Given the description of an element on the screen output the (x, y) to click on. 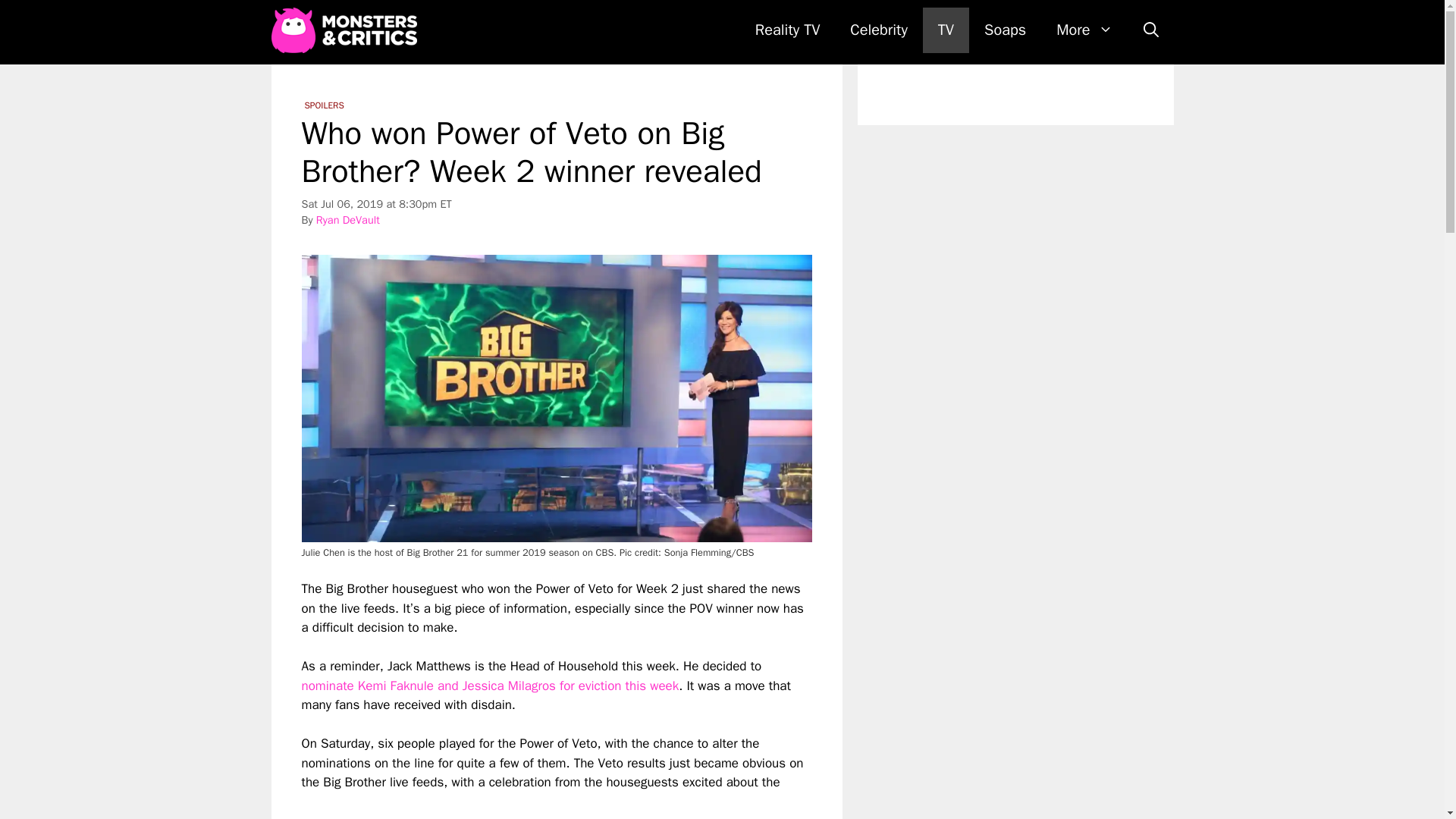
Monsters and Critics (343, 30)
Celebrity (877, 30)
TV (946, 30)
Ryan DeVault (347, 219)
More (1083, 30)
Soaps (1005, 30)
View all posts by Ryan DeVault (347, 219)
Monsters and Critics (347, 30)
YouTube video player (546, 805)
